Given the description of an element on the screen output the (x, y) to click on. 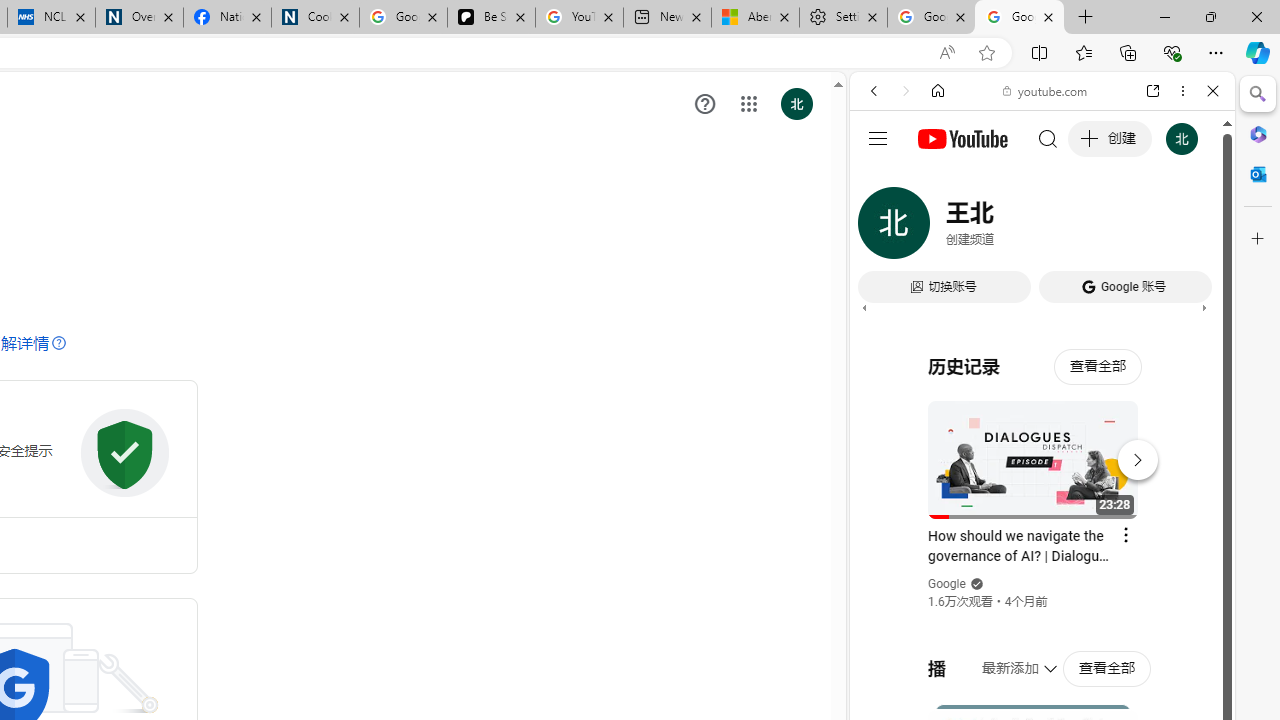
Music (1042, 543)
Show More Music (1164, 546)
